Given the description of an element on the screen output the (x, y) to click on. 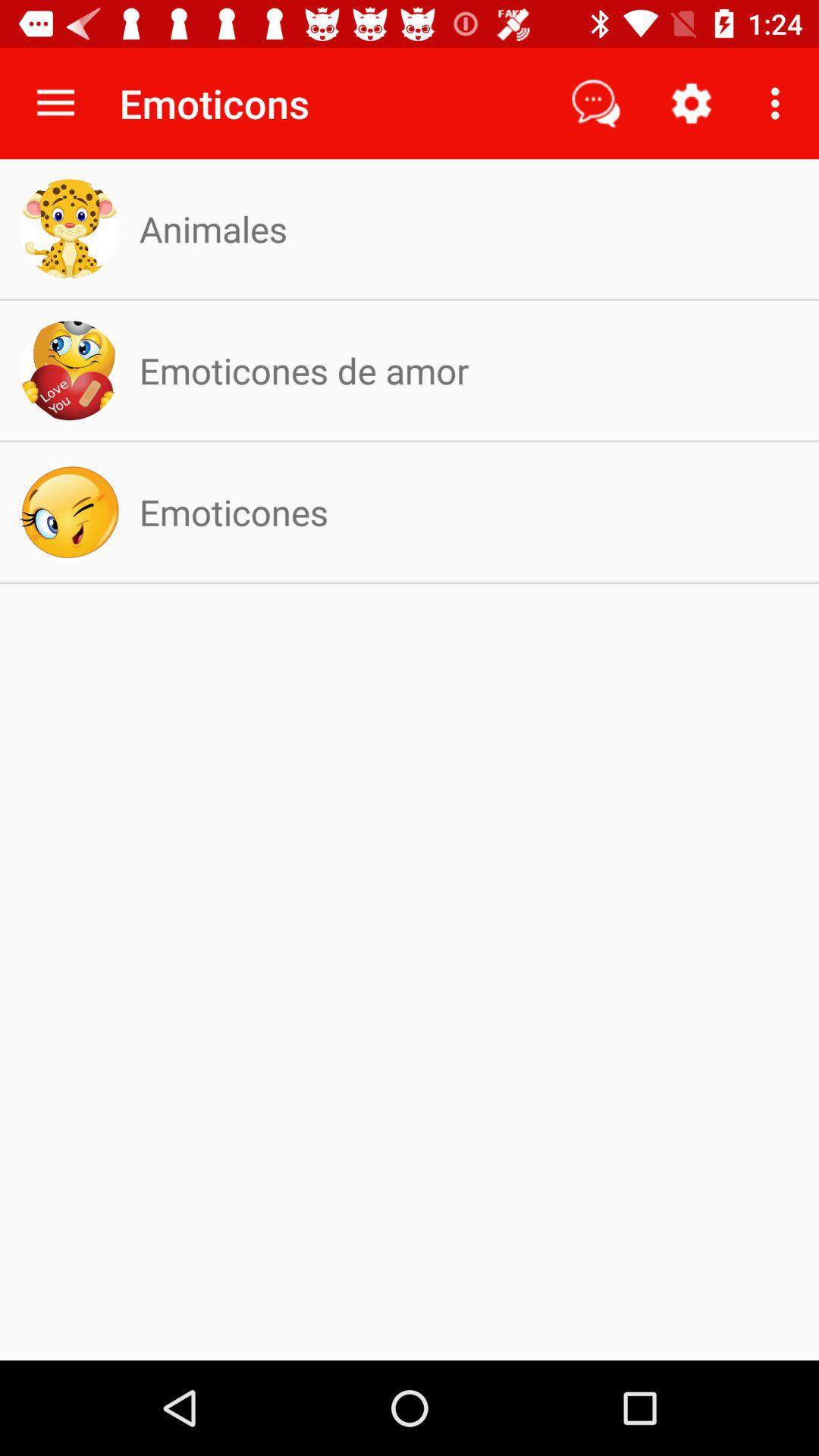
jump until animales item (213, 228)
